Given the description of an element on the screen output the (x, y) to click on. 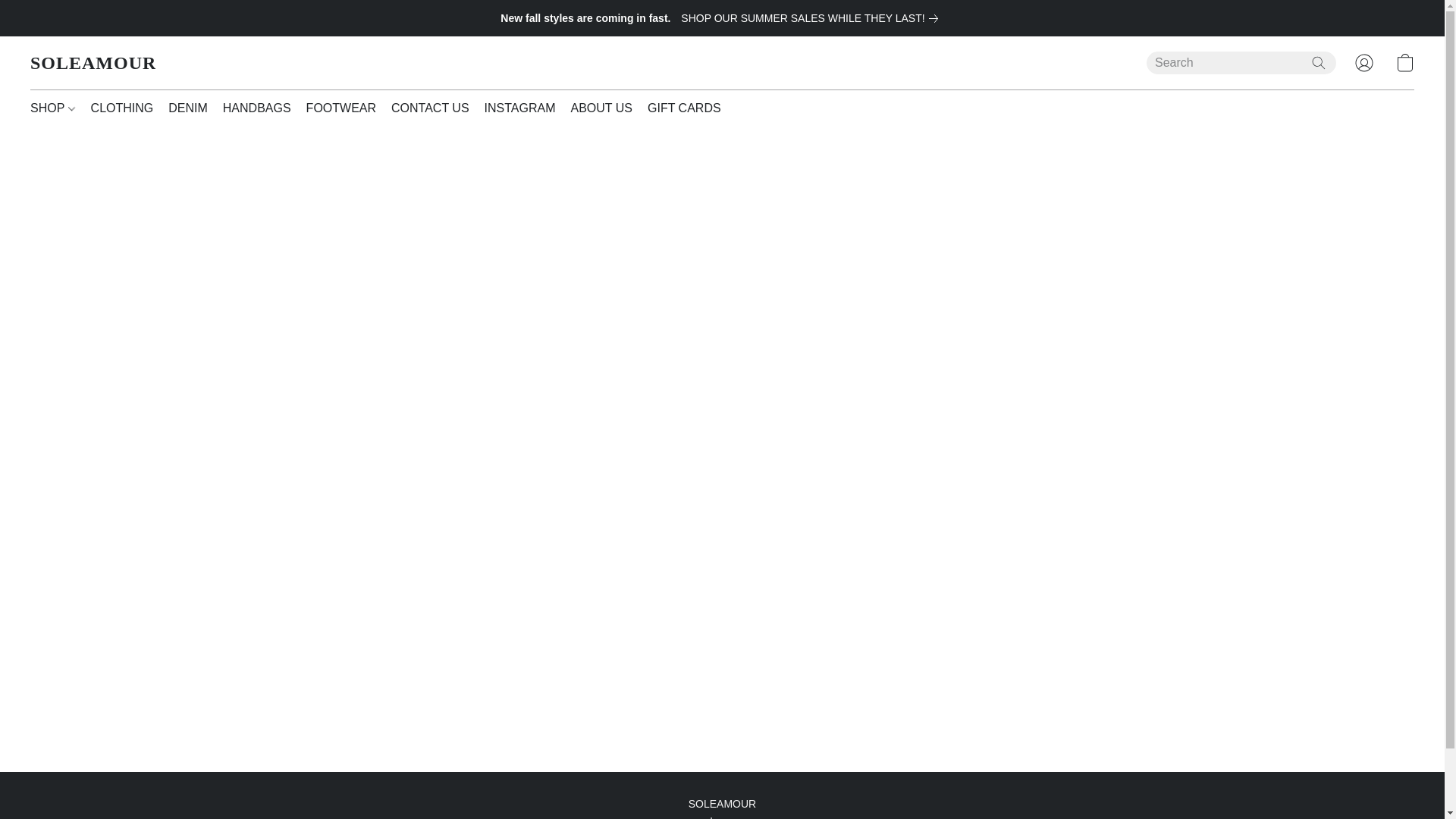
GIFT CARDS (680, 108)
SOLEAMOUR (92, 62)
CONTACT US (430, 108)
HANDBAGS (256, 108)
SHOP (56, 108)
SHOP OUR SUMMER SALES WHILE THEY LAST! (812, 18)
CLOTHING (121, 108)
INSTAGRAM (520, 108)
Go to your shopping cart (1404, 62)
FOOTWEAR (341, 108)
